Given the description of an element on the screen output the (x, y) to click on. 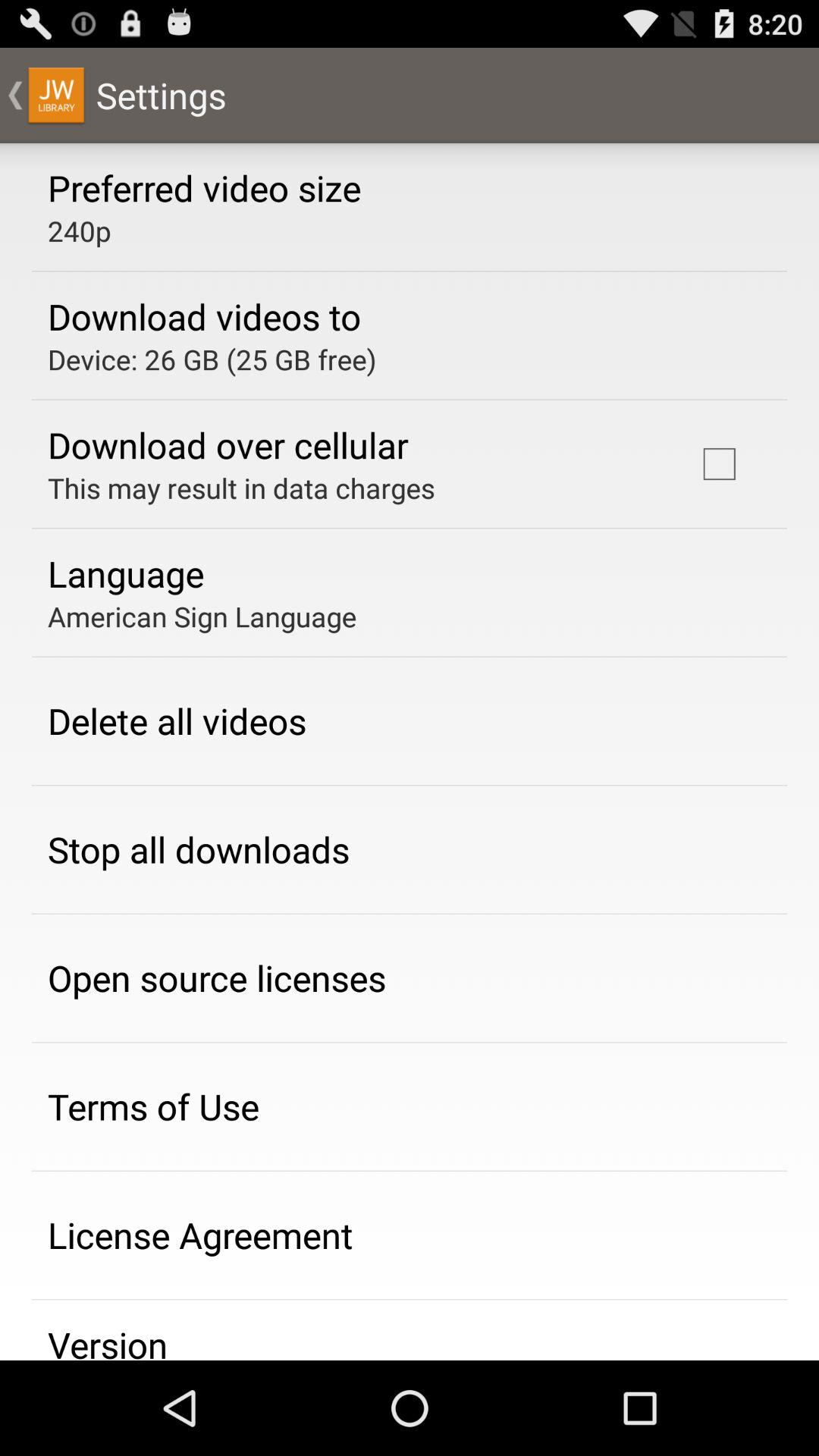
swipe to the terms of use (153, 1106)
